Given the description of an element on the screen output the (x, y) to click on. 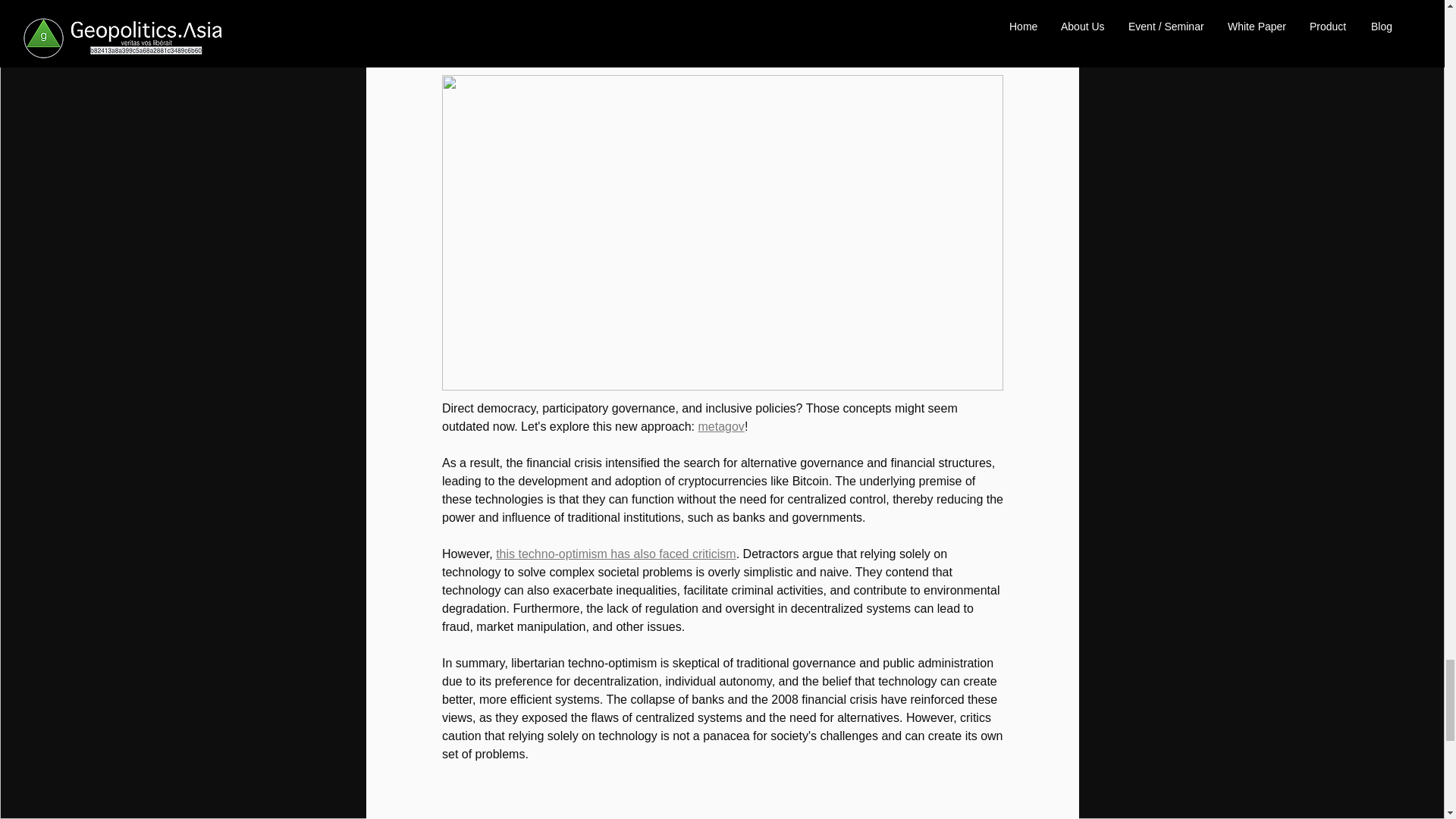
metagov (720, 426)
this techno-optimism has also faced criticism (616, 553)
